Given the description of an element on the screen output the (x, y) to click on. 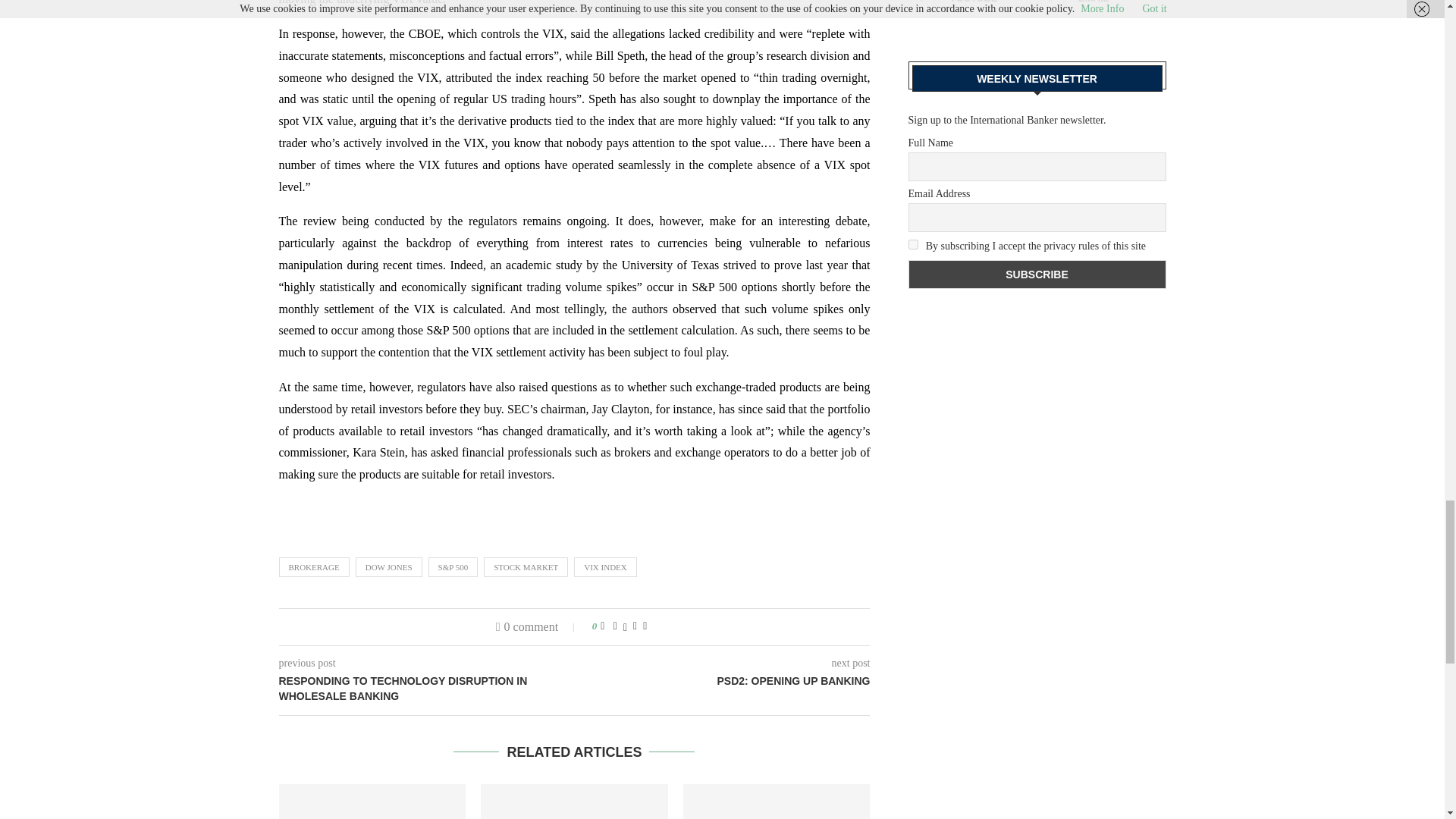
STOCK MARKET (525, 567)
DOW JONES (388, 567)
BROKERAGE (314, 567)
VIX INDEX (605, 567)
Subscribe (1037, 273)
on (913, 244)
Lifting the Veil: Identifying Ultimate Beneficial Owners (372, 801)
